Given the description of an element on the screen output the (x, y) to click on. 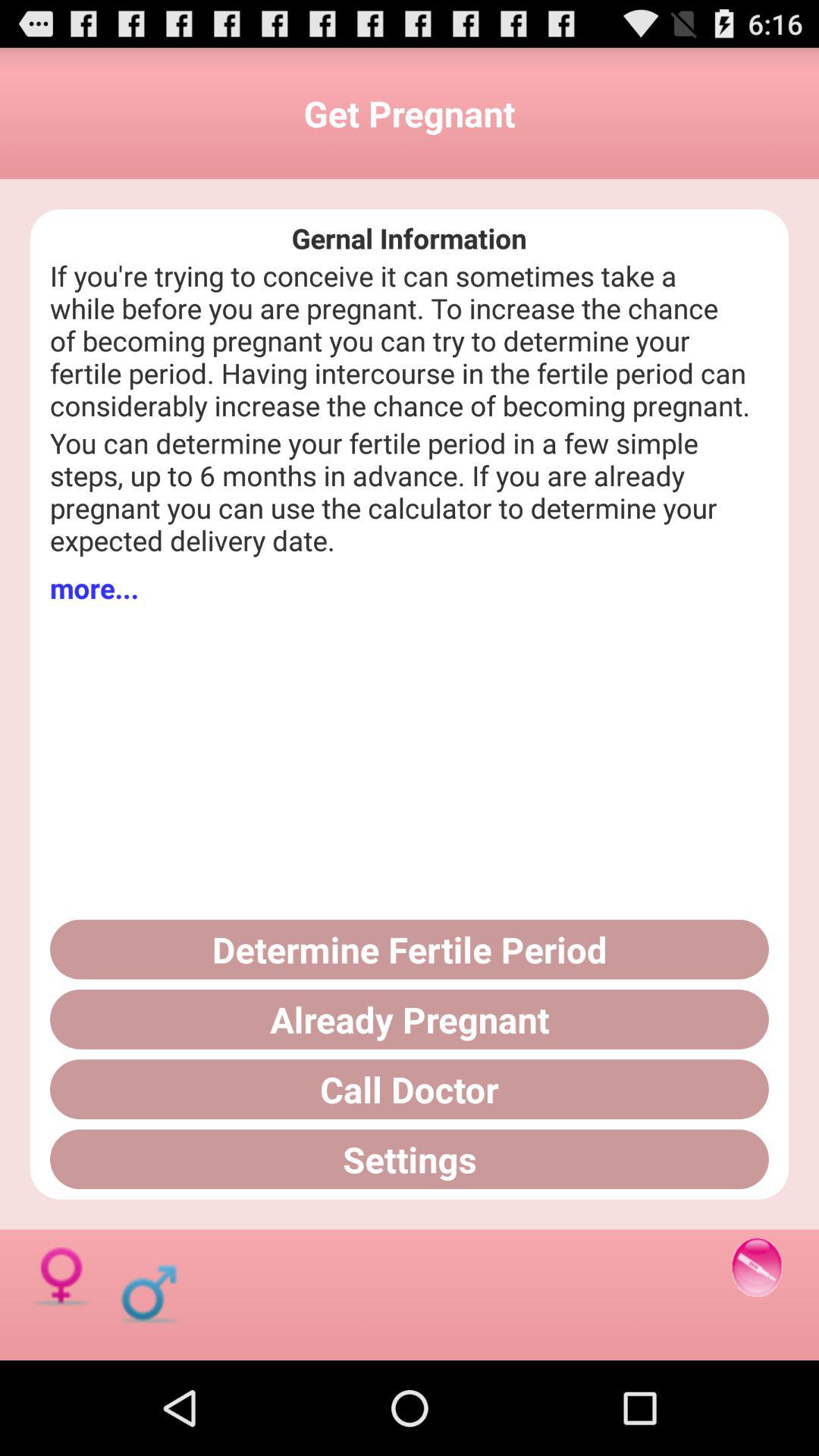
select the icon on the left (94, 587)
